Given the description of an element on the screen output the (x, y) to click on. 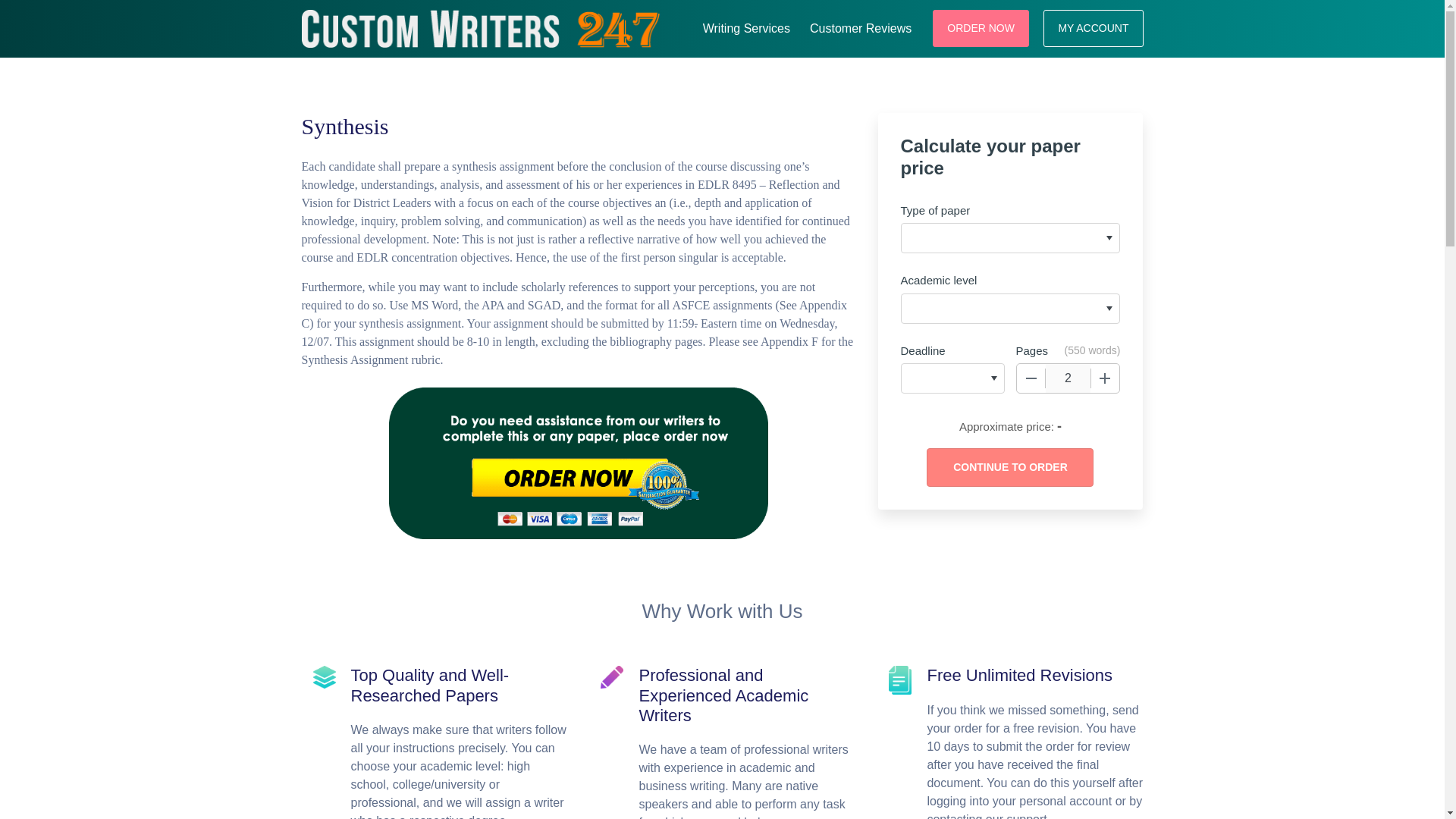
2 (1067, 378)
Customer Reviews (860, 26)
Decrease (1030, 378)
Writing Services (746, 26)
Continue to order (1009, 466)
Customer Reviews (860, 26)
Writing Services (746, 26)
Continue to order (1009, 466)
MY ACCOUNT (1092, 27)
Increase (1104, 378)
ORDER NOW (981, 27)
